Given the description of an element on the screen output the (x, y) to click on. 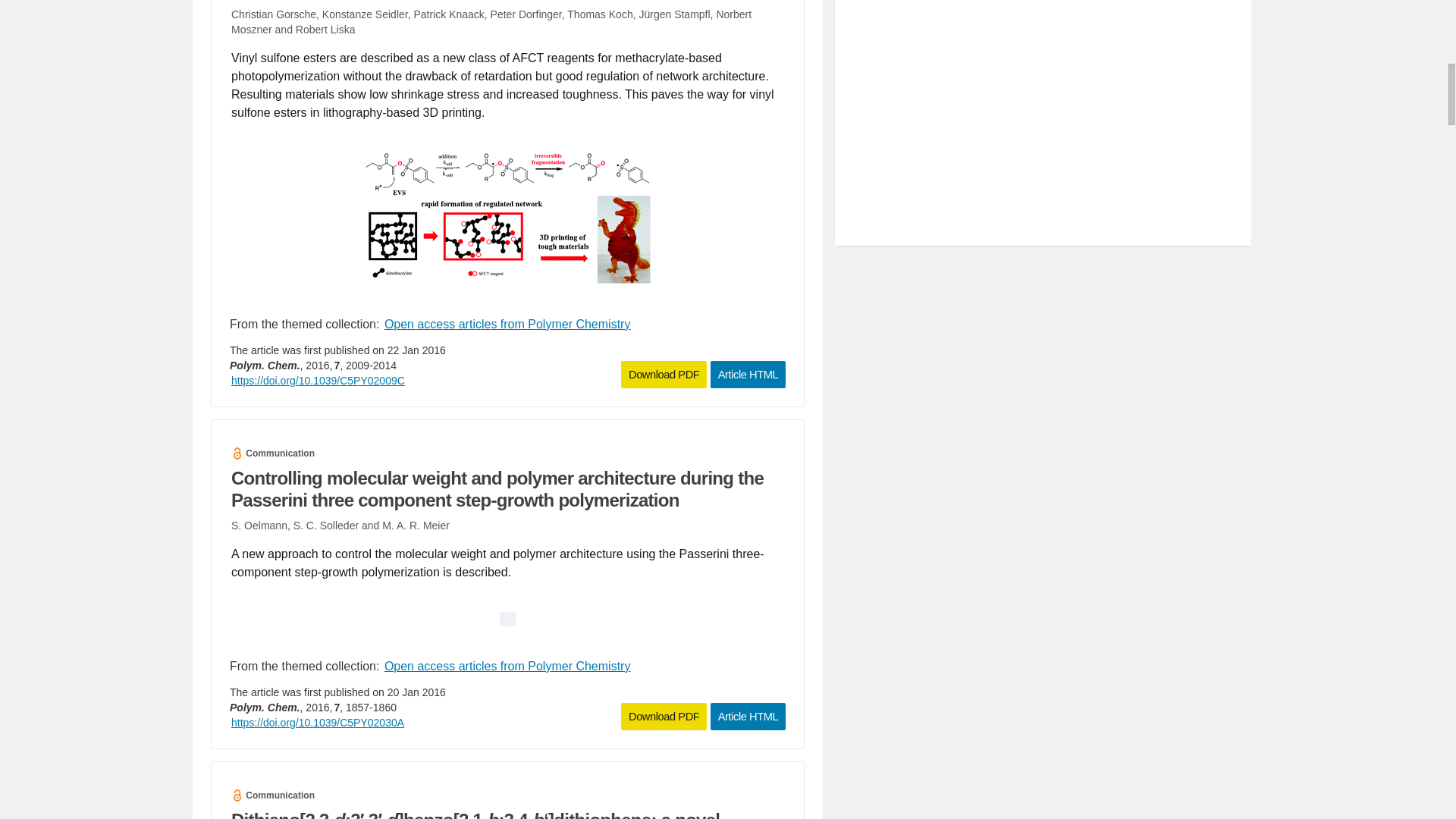
3rd party ad content (1043, 9)
Open access articles from Polymer Chemistry (506, 666)
Article HTML (748, 374)
Download PDF (663, 374)
3rd party ad content (1043, 126)
Open access articles from Polymer Chemistry (506, 324)
Download PDF (663, 716)
Article HTML (748, 716)
